Given the description of an element on the screen output the (x, y) to click on. 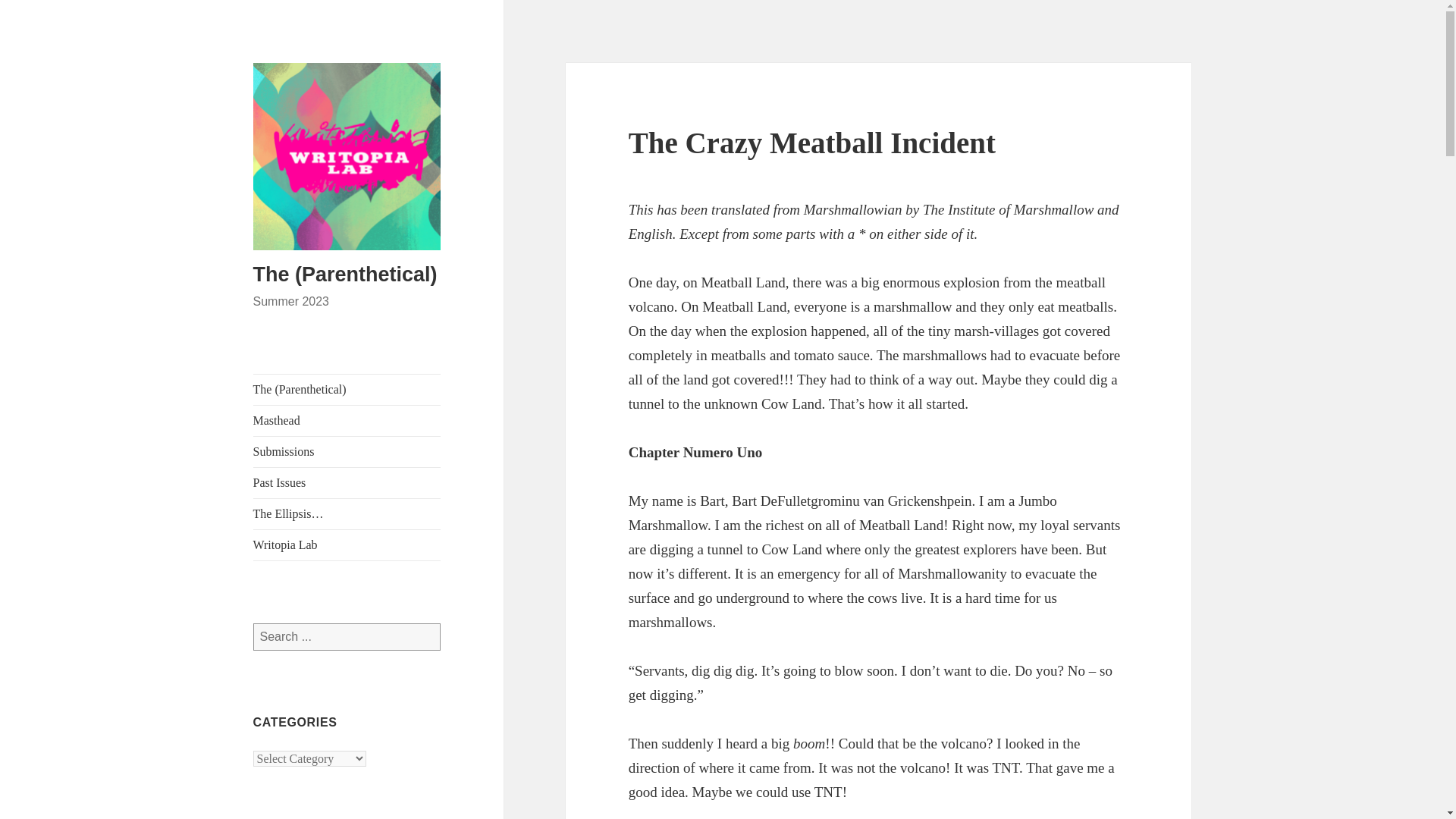
Masthead (347, 420)
Submissions (347, 451)
Writopia Lab (347, 544)
Past Issues (347, 482)
